Given the description of an element on the screen output the (x, y) to click on. 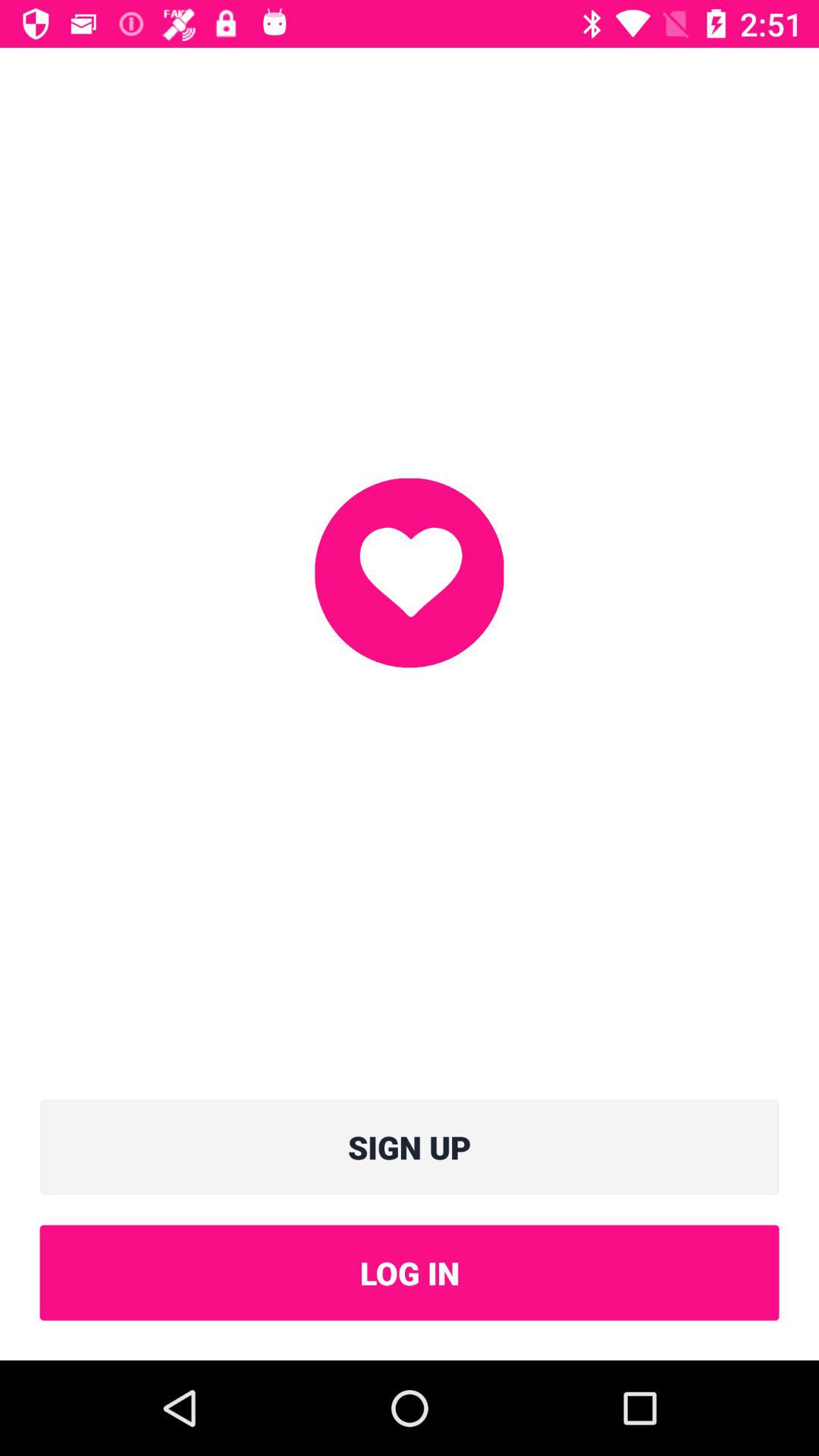
launch icon above log in icon (409, 1146)
